Given the description of an element on the screen output the (x, y) to click on. 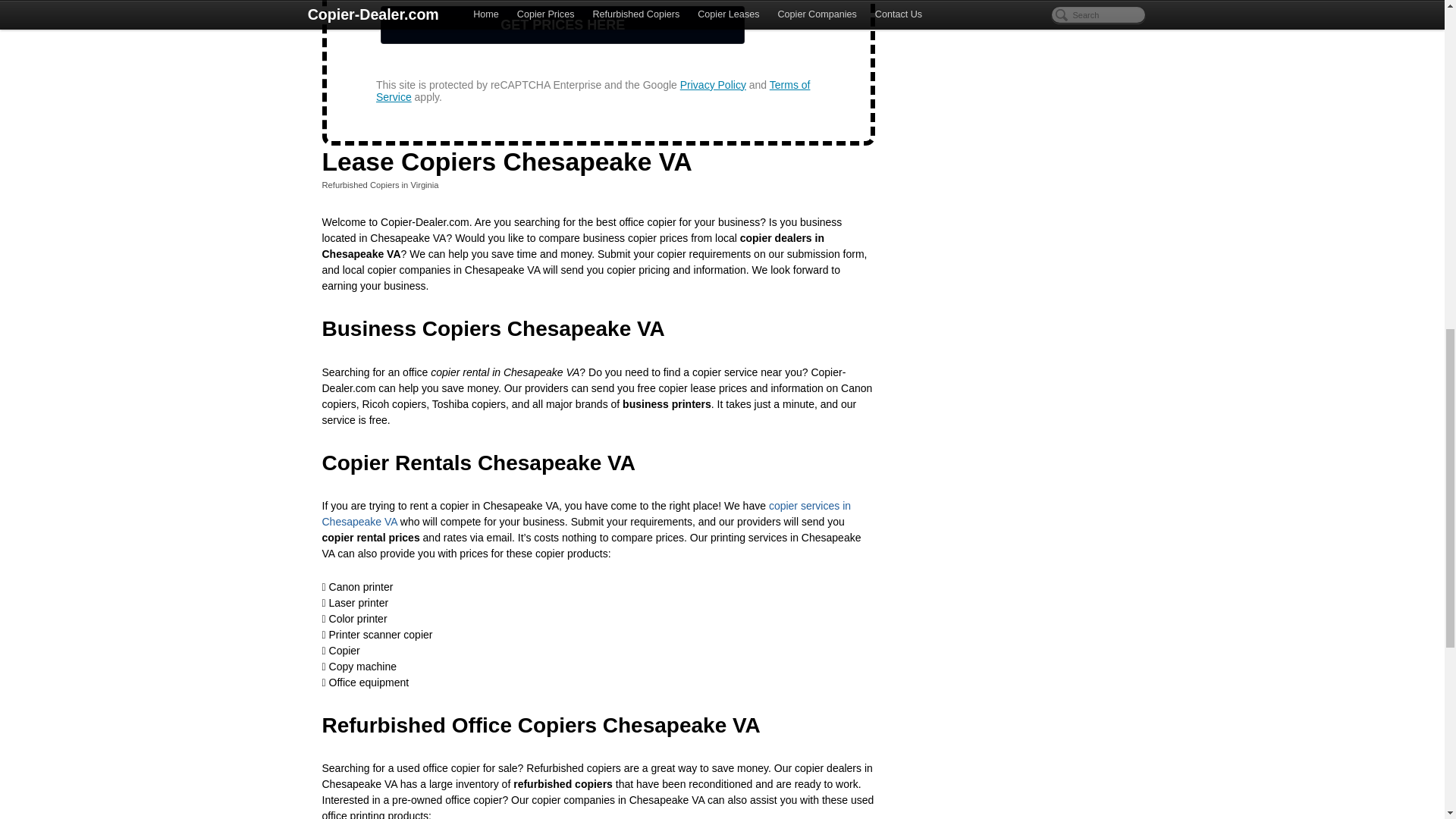
copier services in Chesapeake VA (585, 513)
Virginia (424, 184)
Refurbished Copiers (359, 184)
Embedded Wufoo Form (598, 68)
